Given the description of an element on the screen output the (x, y) to click on. 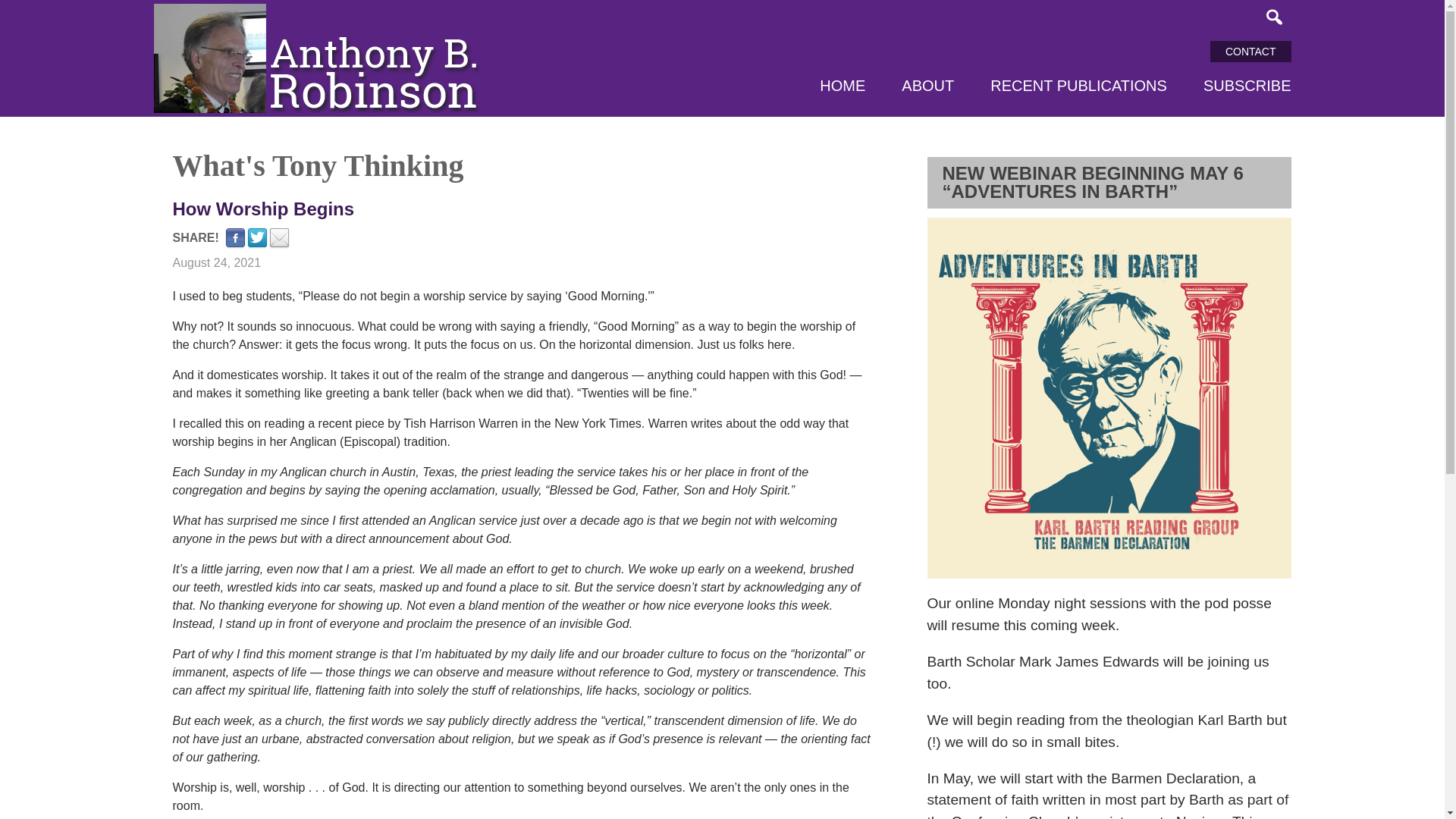
HOME (841, 86)
ABOUT (927, 86)
RECENT PUBLICATIONS (1078, 86)
Search (1274, 16)
CONTACT (1250, 51)
SUBSCRIBE (1247, 86)
Search (1274, 16)
